Given the description of an element on the screen output the (x, y) to click on. 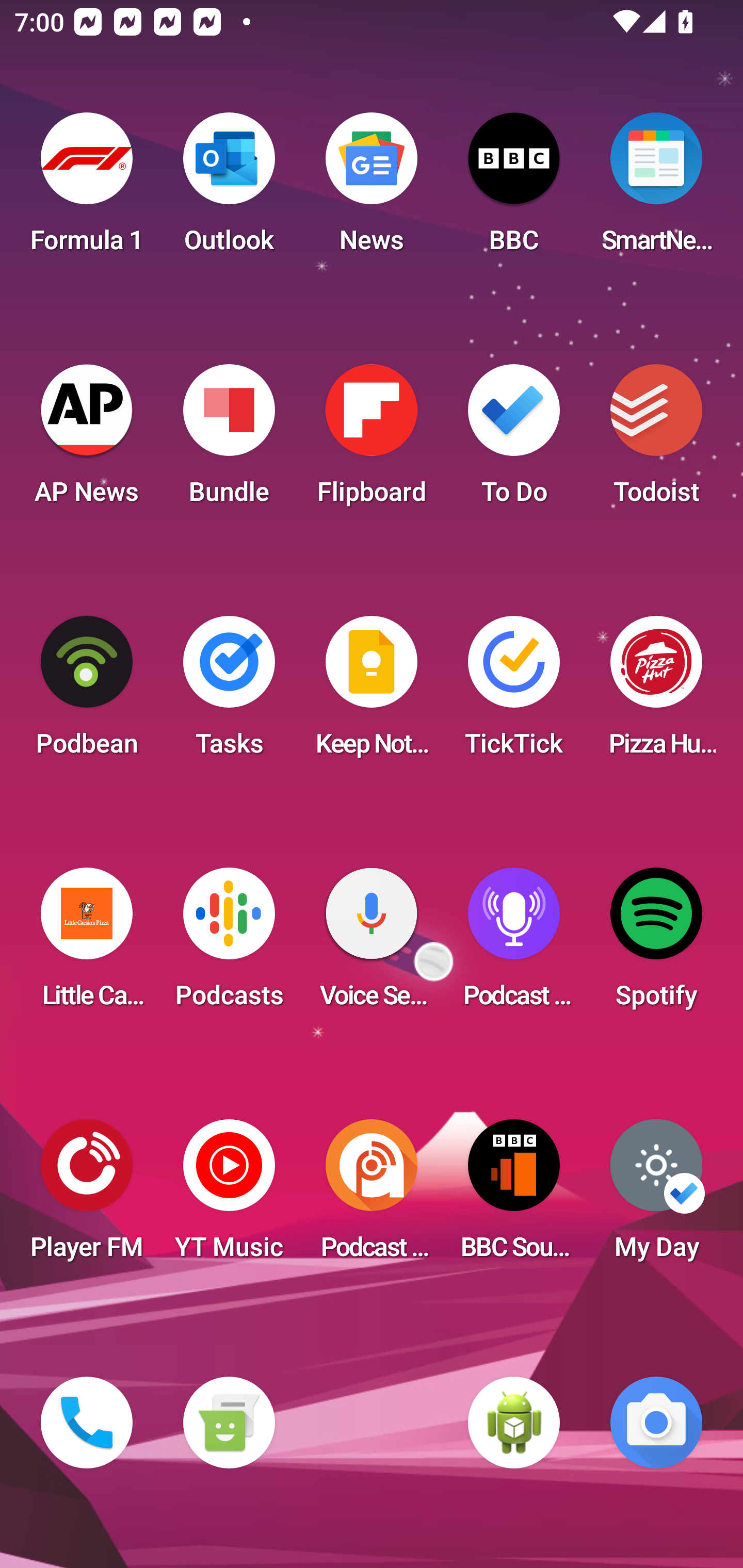
Formula 1 (86, 188)
Outlook (228, 188)
News (371, 188)
BBC (513, 188)
SmartNews (656, 188)
AP News (86, 440)
Bundle (228, 440)
Flipboard (371, 440)
To Do (513, 440)
Todoist (656, 440)
Podbean (86, 692)
Tasks (228, 692)
Keep Notes (371, 692)
TickTick (513, 692)
Pizza Hut HK & Macau (656, 692)
Little Caesars Pizza (86, 943)
Podcasts (228, 943)
Voice Search (371, 943)
Podcast Player (513, 943)
Spotify (656, 943)
Player FM (86, 1195)
YT Music (228, 1195)
Podcast Addict (371, 1195)
BBC Sounds (513, 1195)
My Day (656, 1195)
Phone (86, 1422)
Messaging (228, 1422)
WebView Browser Tester (513, 1422)
Camera (656, 1422)
